Given the description of an element on the screen output the (x, y) to click on. 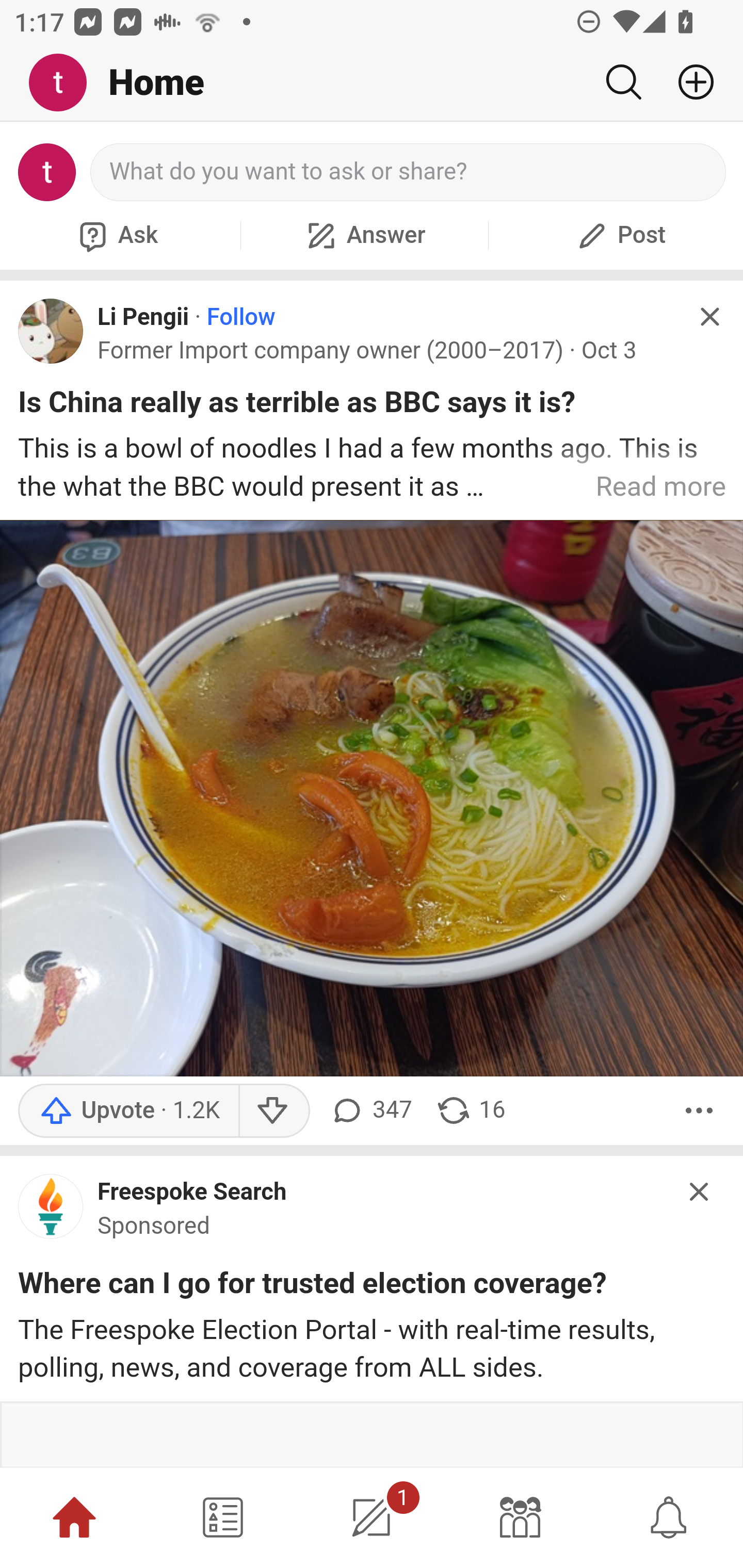
Me (64, 83)
Search (623, 82)
Add (688, 82)
1 (371, 1517)
